Given the description of an element on the screen output the (x, y) to click on. 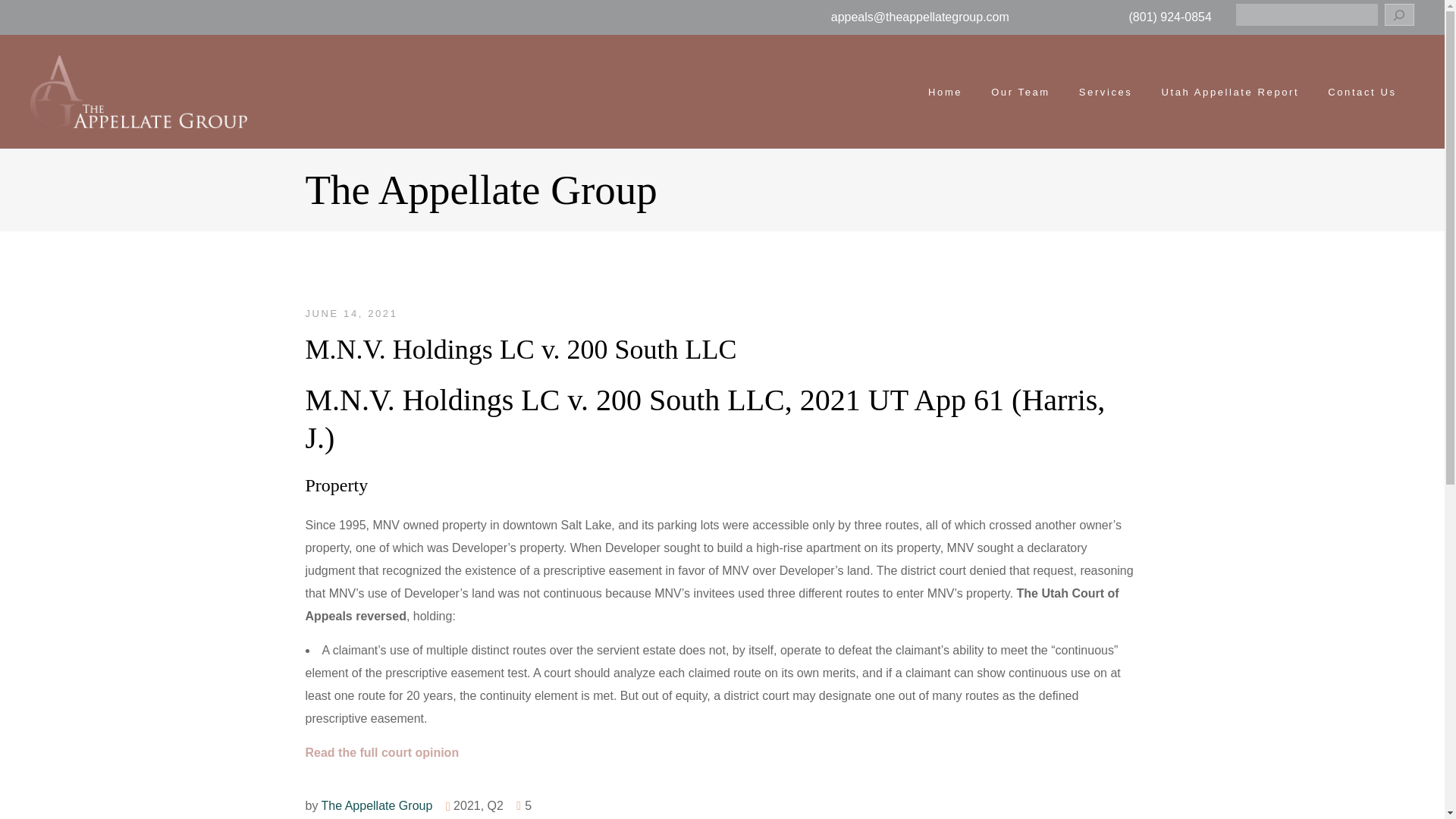
Home (945, 91)
Services (1105, 91)
Our Team (1020, 91)
Utah Appellate Report (1230, 91)
Like this (523, 805)
Contact Us (1361, 91)
